Given the description of an element on the screen output the (x, y) to click on. 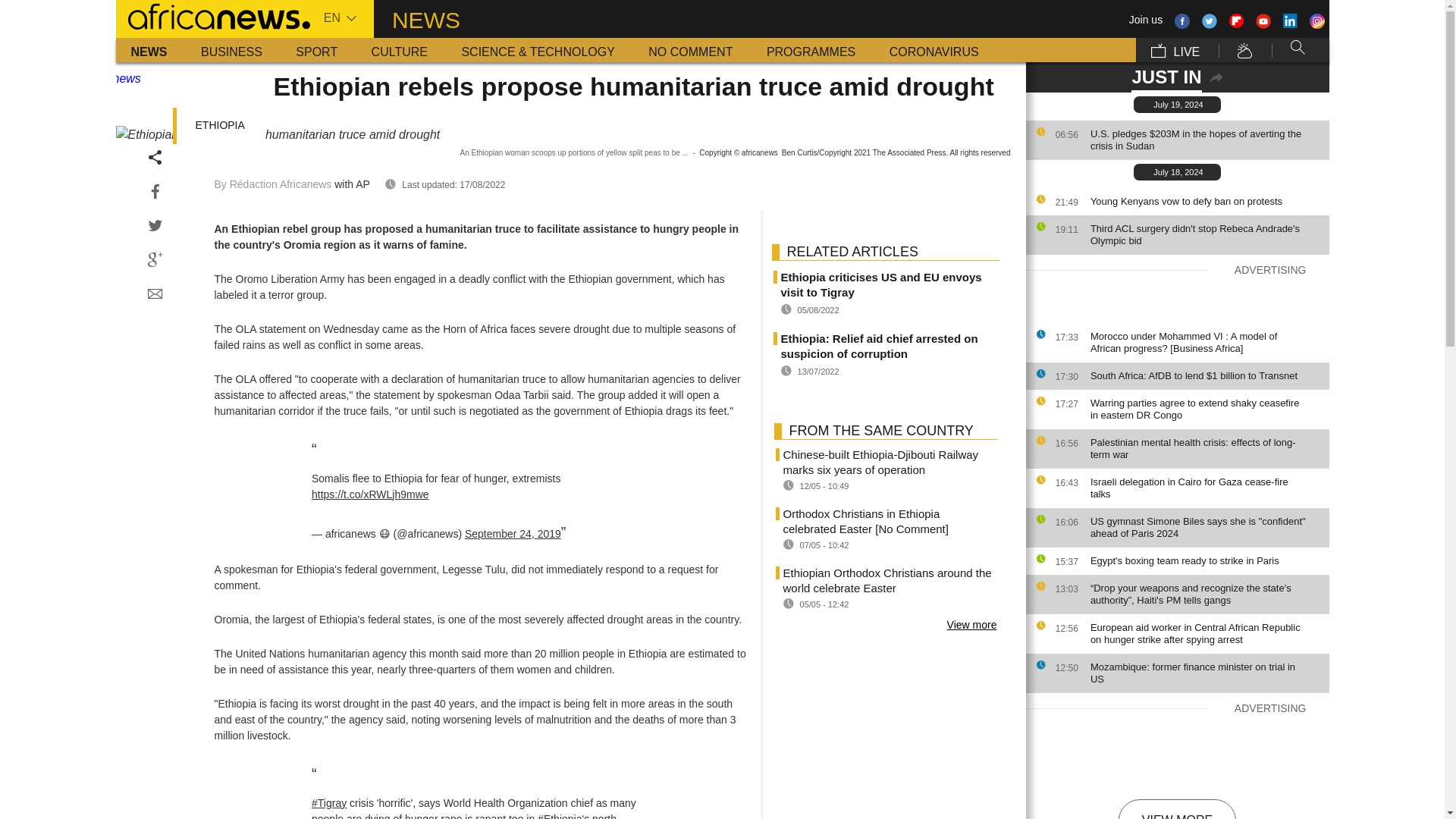
NO COMMENT (690, 49)
News (148, 49)
LIVE (1174, 49)
No Comment (690, 49)
Business (232, 49)
PROGRAMMES (810, 49)
Third ACL surgery didn't stop Rebeca Andrade's Olympic bid (1206, 234)
Programmes (810, 49)
Culture (399, 49)
SPORT (316, 49)
Sport (316, 49)
Africanews (211, 15)
BUSINESS (232, 49)
Young Kenyans vow to defy ban on protests (1206, 201)
